Given the description of an element on the screen output the (x, y) to click on. 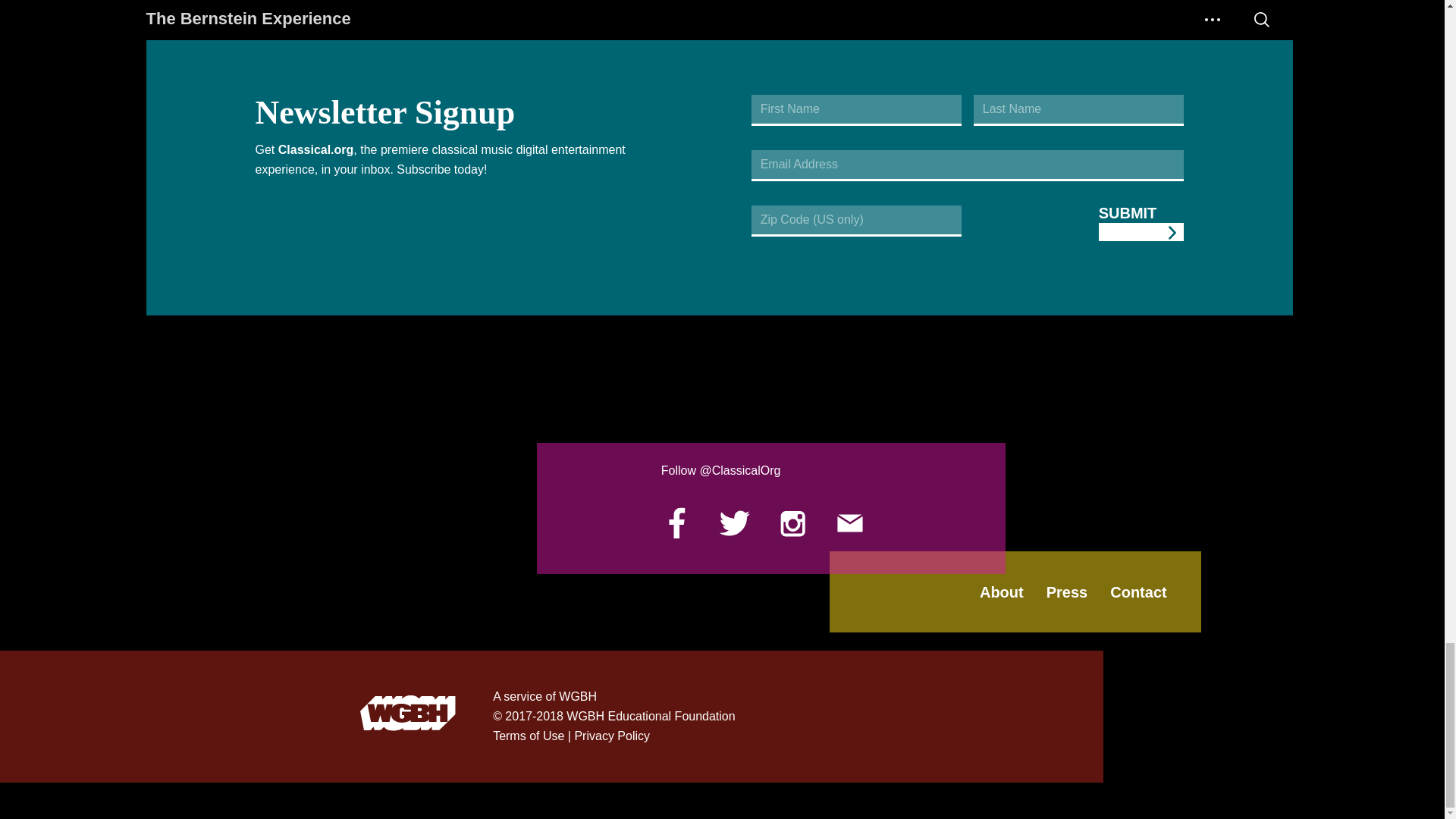
Contact (1138, 592)
WGBH (408, 717)
SUBMIT (1141, 222)
About (1001, 592)
Press (1067, 592)
